Given the description of an element on the screen output the (x, y) to click on. 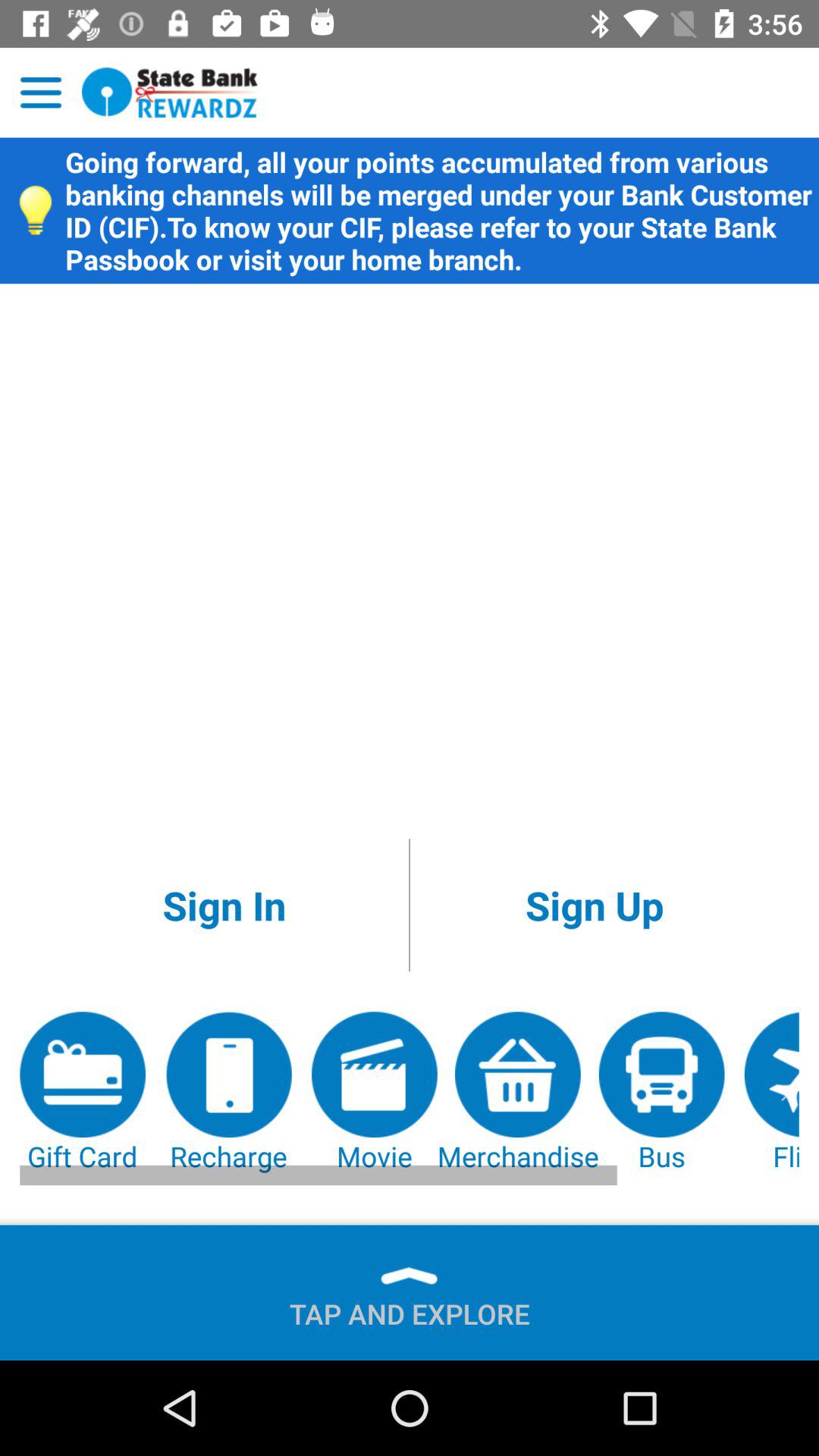
click button above the tap and explore button (82, 1093)
